Given the description of an element on the screen output the (x, y) to click on. 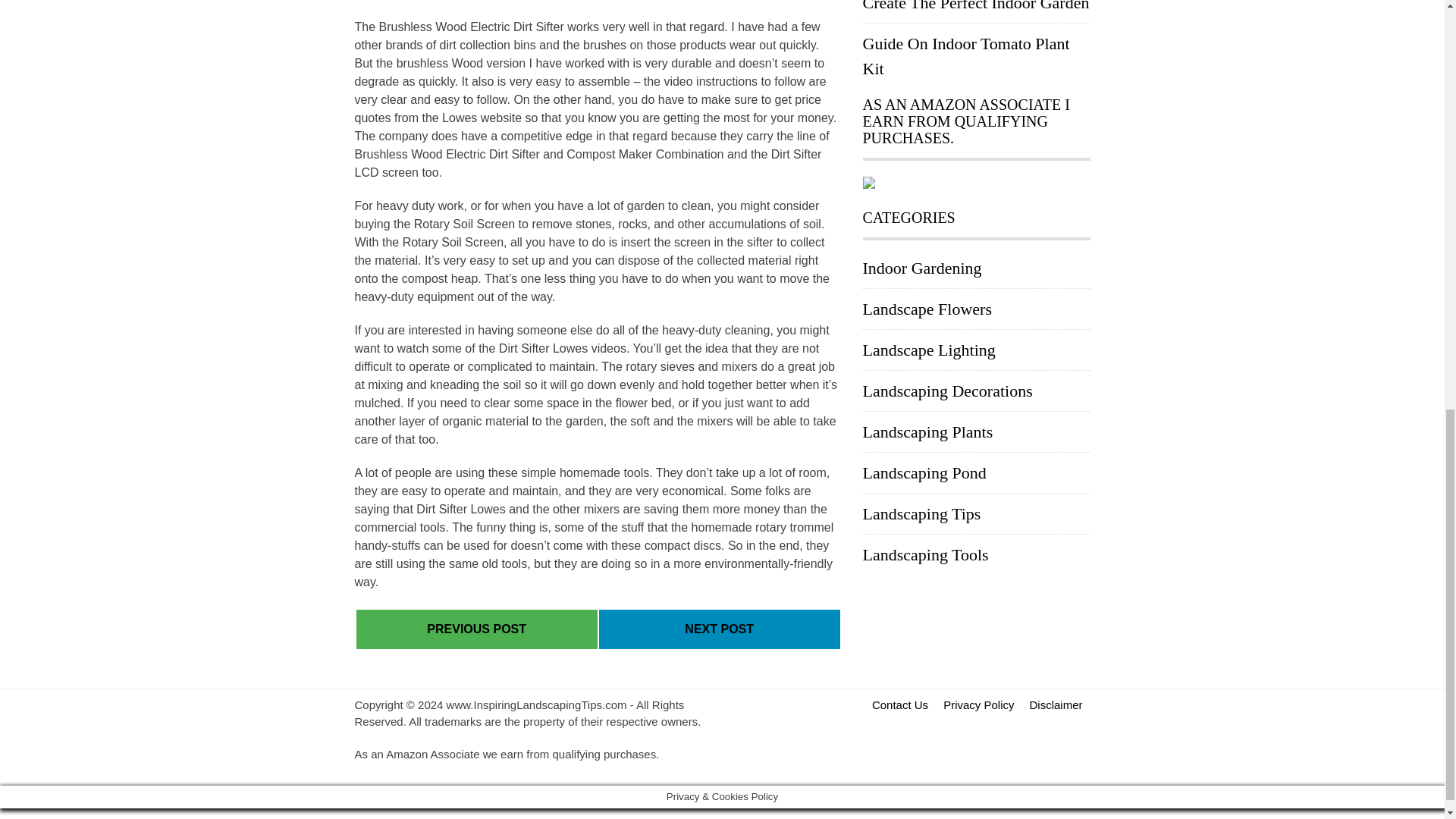
NEXT POST (718, 628)
Landscaping Tips (922, 513)
Landscape Lighting (929, 349)
Contact Us (900, 704)
NEXT POST (719, 629)
Landscaping Plants (927, 431)
PREVIOUS POST (476, 629)
Landscaping Tools (925, 554)
Guide On Indoor Tomato Plant Kit (966, 55)
Disclaimer (1055, 704)
